Given the description of an element on the screen output the (x, y) to click on. 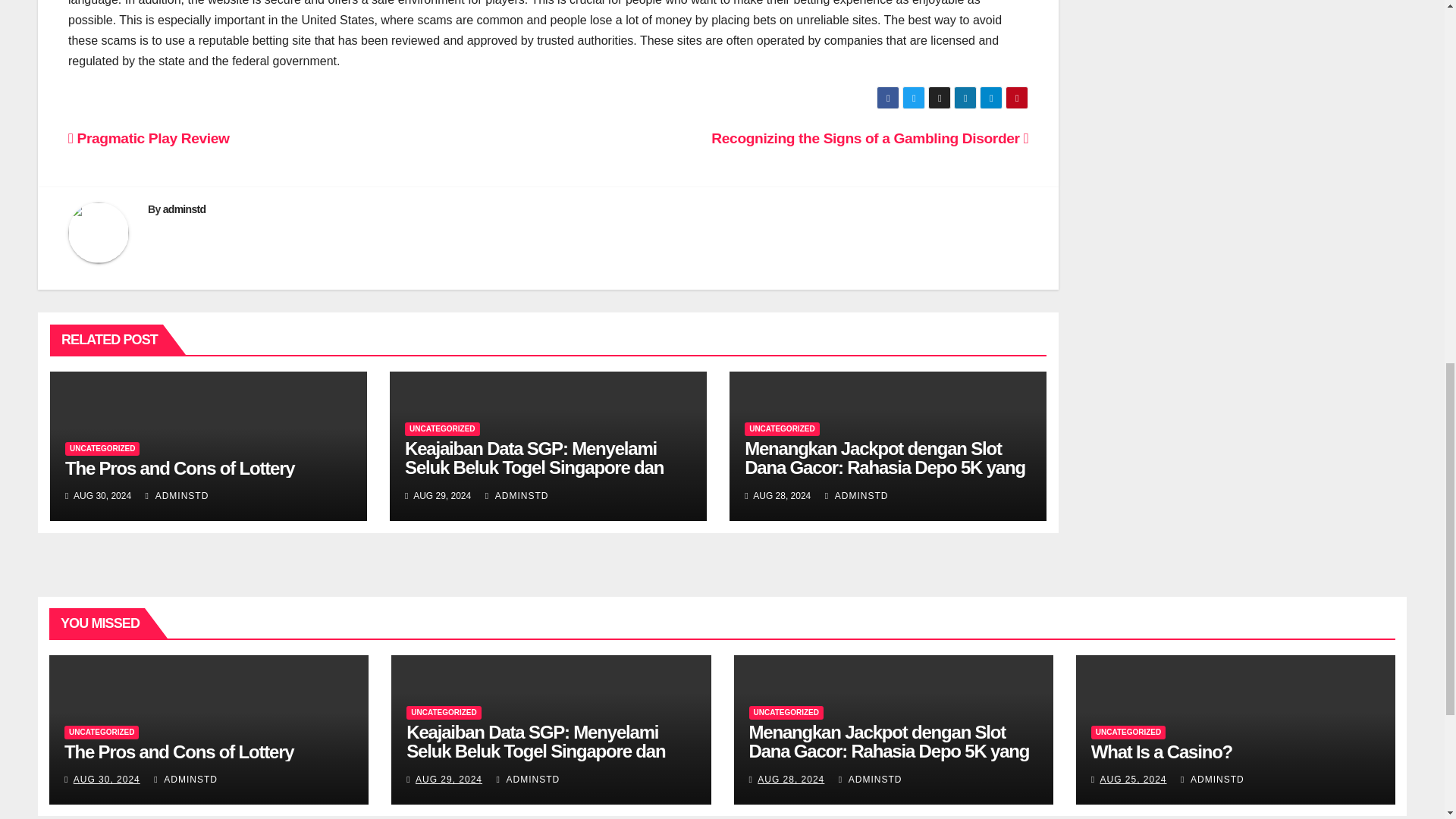
Permalink to: The Pros and Cons of Lottery (179, 752)
adminstd (184, 209)
Permalink to: What Is a Casino? (1160, 752)
Recognizing the Signs of a Gambling Disorder (869, 138)
ADMINSTD (177, 495)
